Given the description of an element on the screen output the (x, y) to click on. 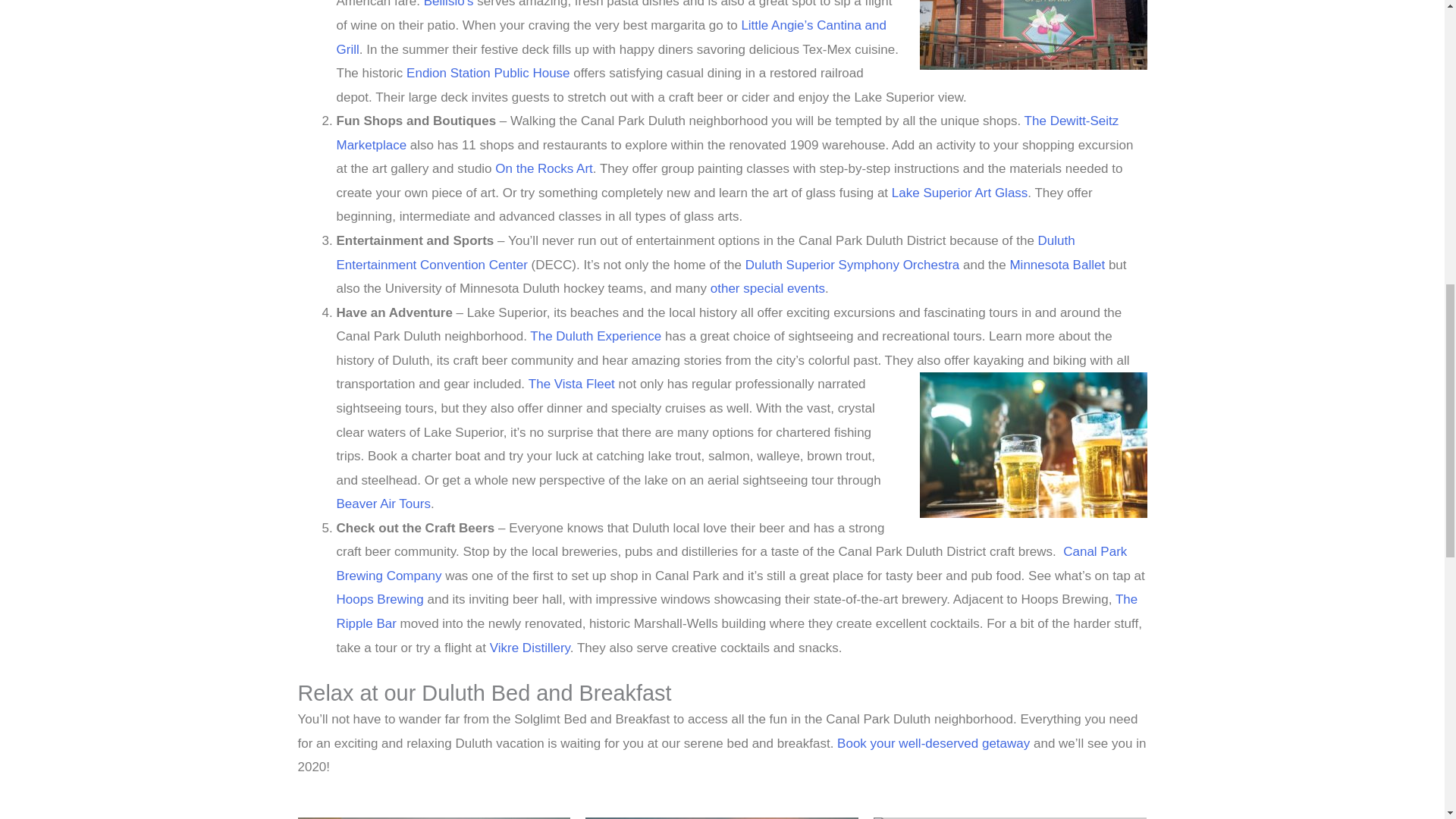
The Ripple Bar (737, 611)
The Dewitt-Seitz Marketplace (727, 132)
Vikre Distillery (529, 647)
other special events (767, 288)
Minnesota Ballet (1057, 264)
Hoops Brewing (379, 599)
Beaver Air Tours (383, 503)
